Given the description of an element on the screen output the (x, y) to click on. 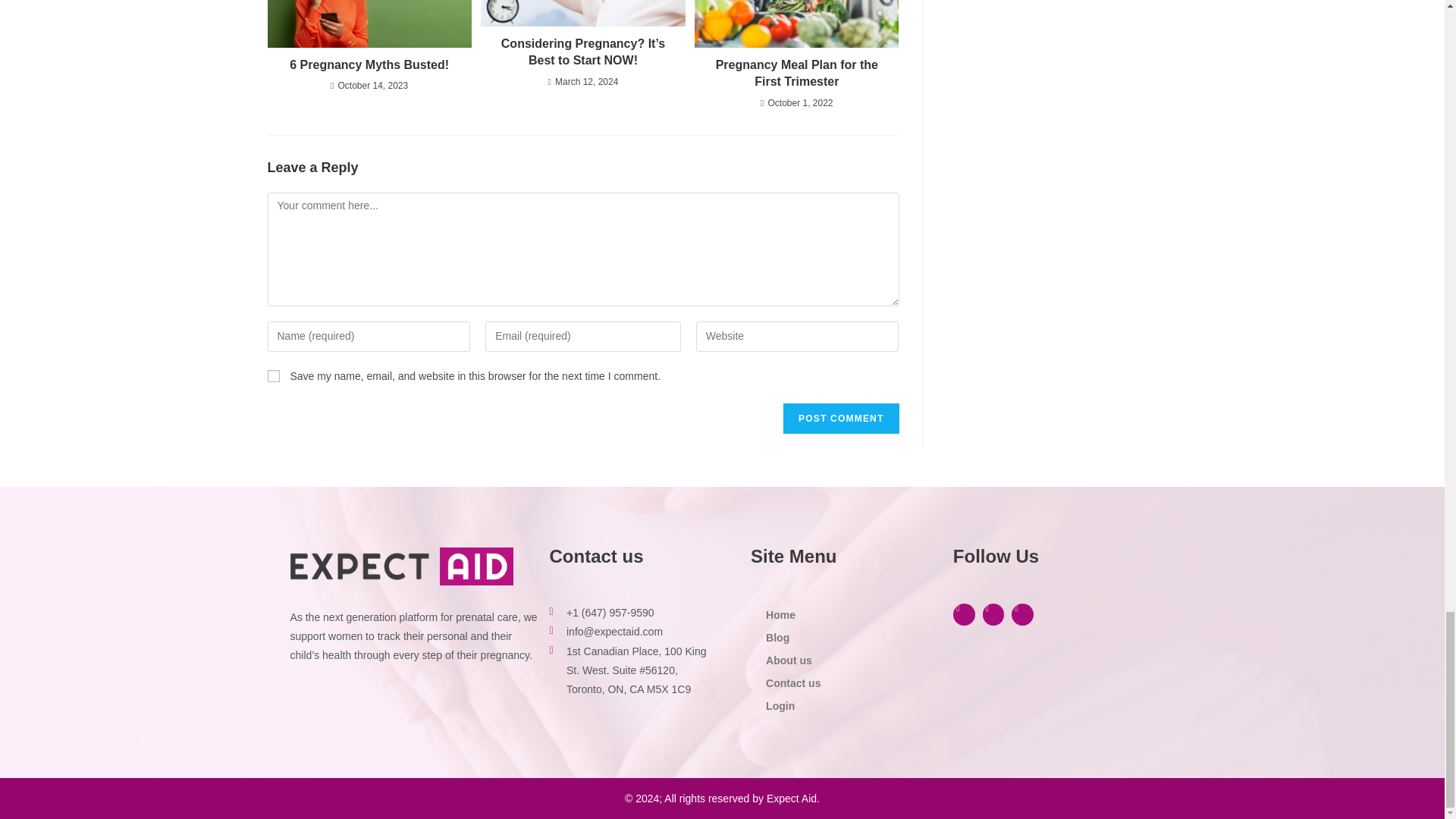
Pregnancy Meal Plan for the First Trimester (796, 73)
Post Comment (840, 418)
yes (272, 376)
6 Pregnancy Myths Busted! (368, 64)
Post Comment (840, 418)
